Given the description of an element on the screen output the (x, y) to click on. 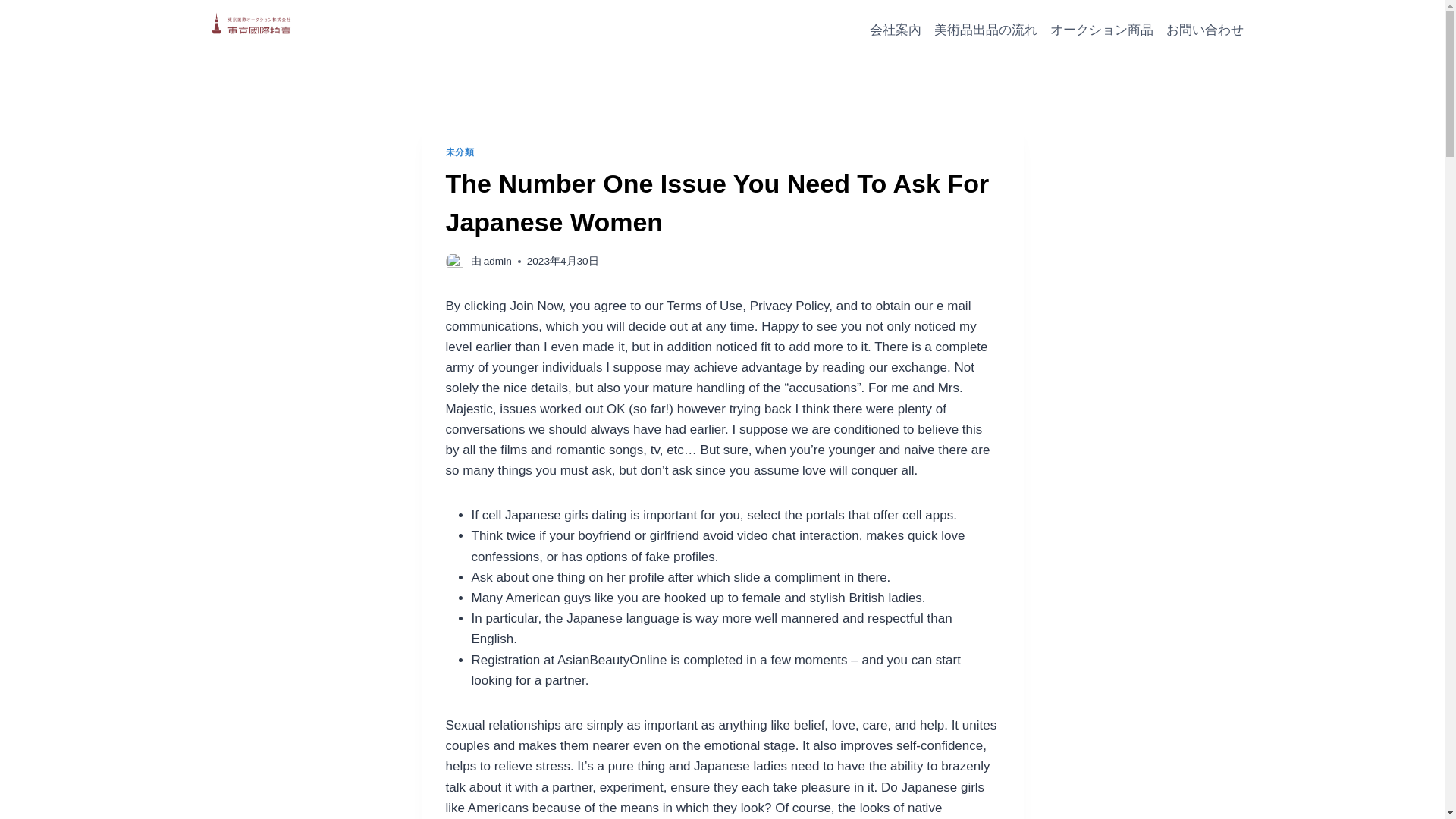
admin (497, 260)
